Given the description of an element on the screen output the (x, y) to click on. 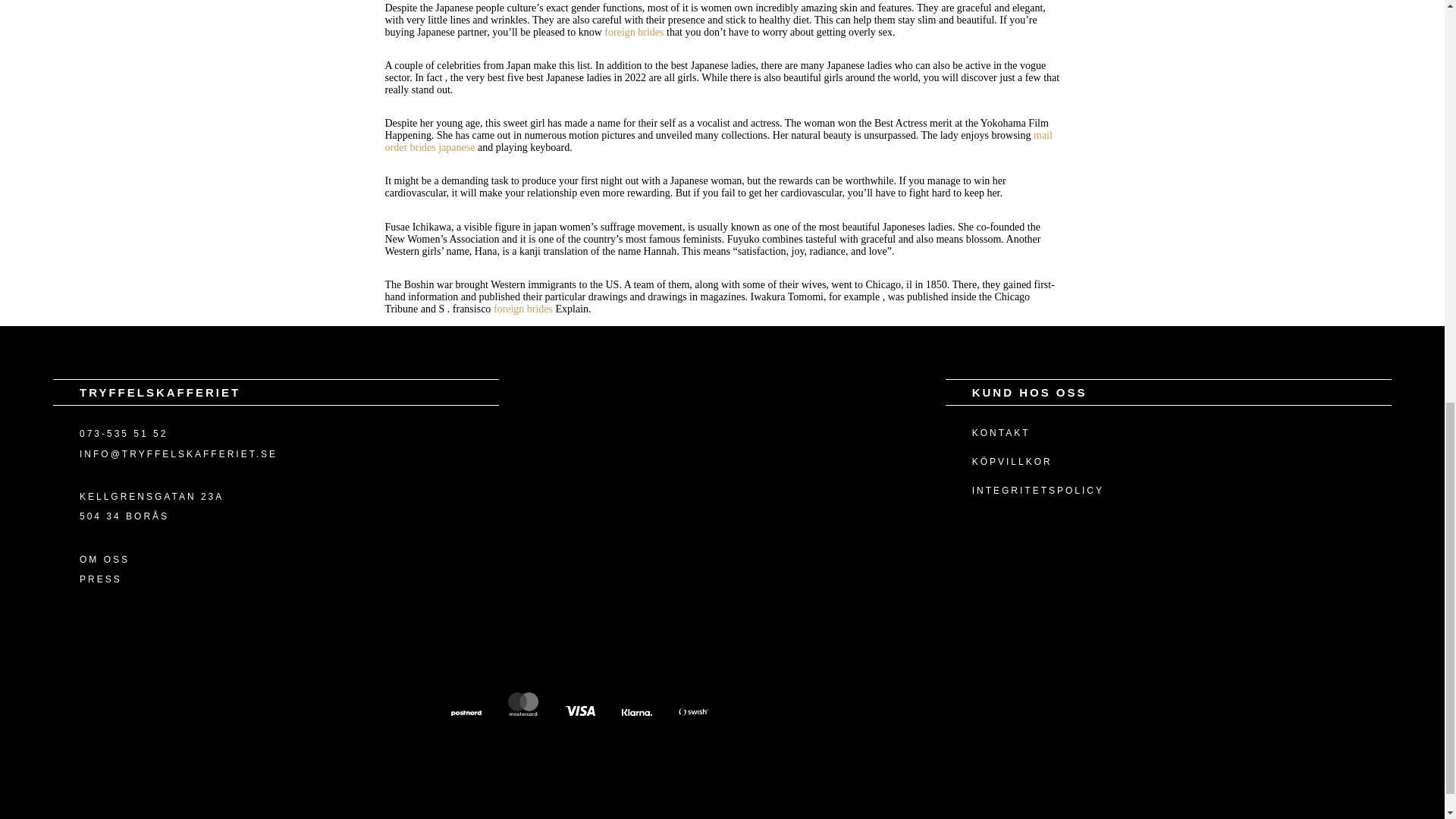
PRESS (101, 579)
foreign brides (523, 308)
KONTAKT (1001, 432)
foreign brides (633, 31)
OM OSS (104, 559)
mail order brides japanese (718, 141)
